Given the description of an element on the screen output the (x, y) to click on. 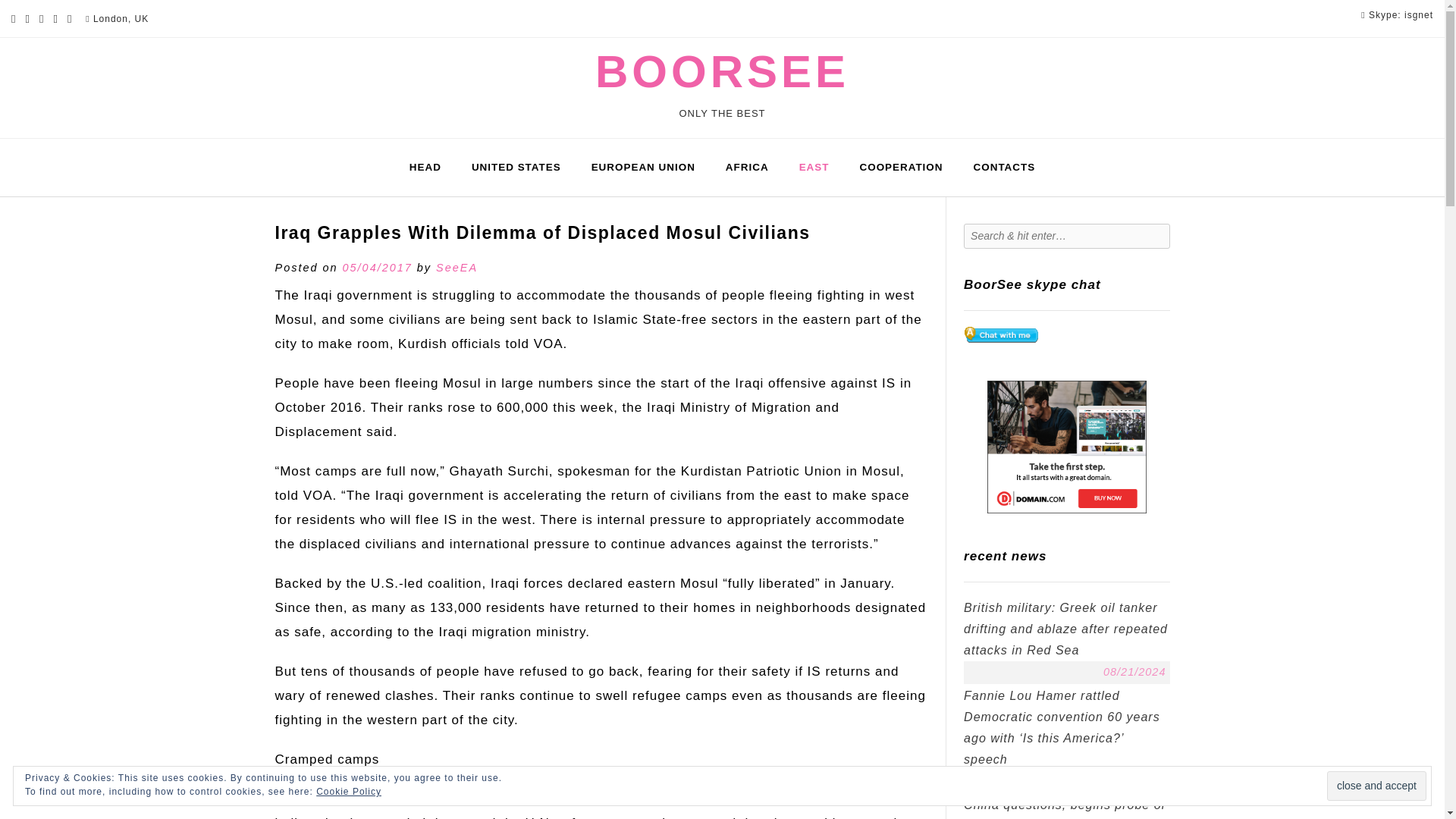
AFRICA (747, 167)
CONTACTS (1004, 167)
HEAD (425, 167)
BOORSEE (721, 71)
EUROPEAN UNION (643, 167)
BOORSEE (721, 71)
COOPERATION (901, 167)
EAST (814, 167)
UNITED STATES (516, 167)
SeeEA (456, 267)
